Given the description of an element on the screen output the (x, y) to click on. 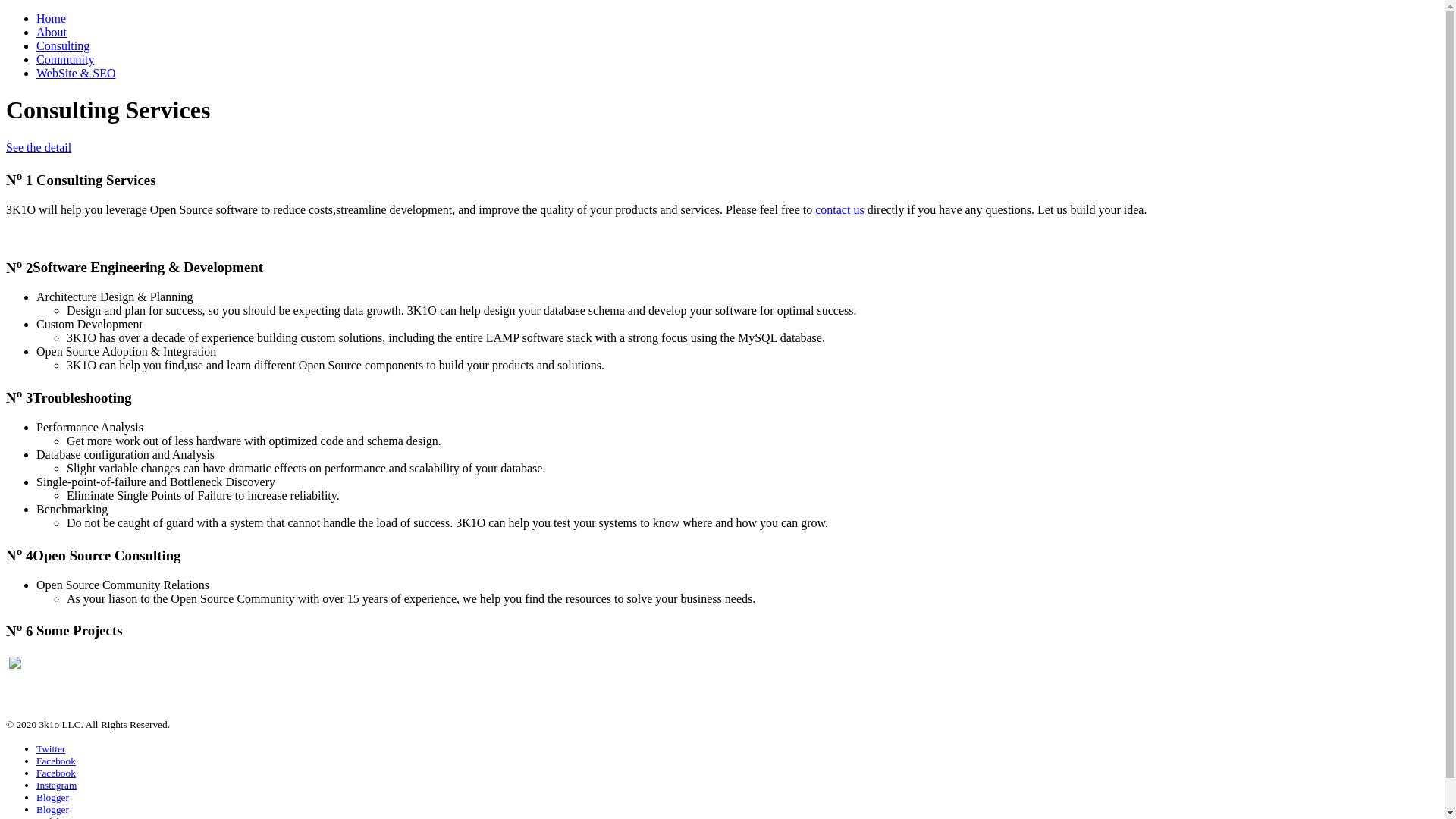
Instagram Element type: text (56, 784)
Consulting Element type: text (62, 45)
About Element type: text (51, 31)
WebSite & SEO Element type: text (75, 72)
Facebook Element type: text (55, 760)
Twitter Element type: text (50, 748)
Blogger Element type: text (52, 797)
Home Element type: text (50, 18)
See the detail Element type: text (38, 147)
Blogger Element type: text (52, 809)
Community Element type: text (65, 59)
Facebook Element type: text (55, 772)
contact us Element type: text (839, 209)
